Given the description of an element on the screen output the (x, y) to click on. 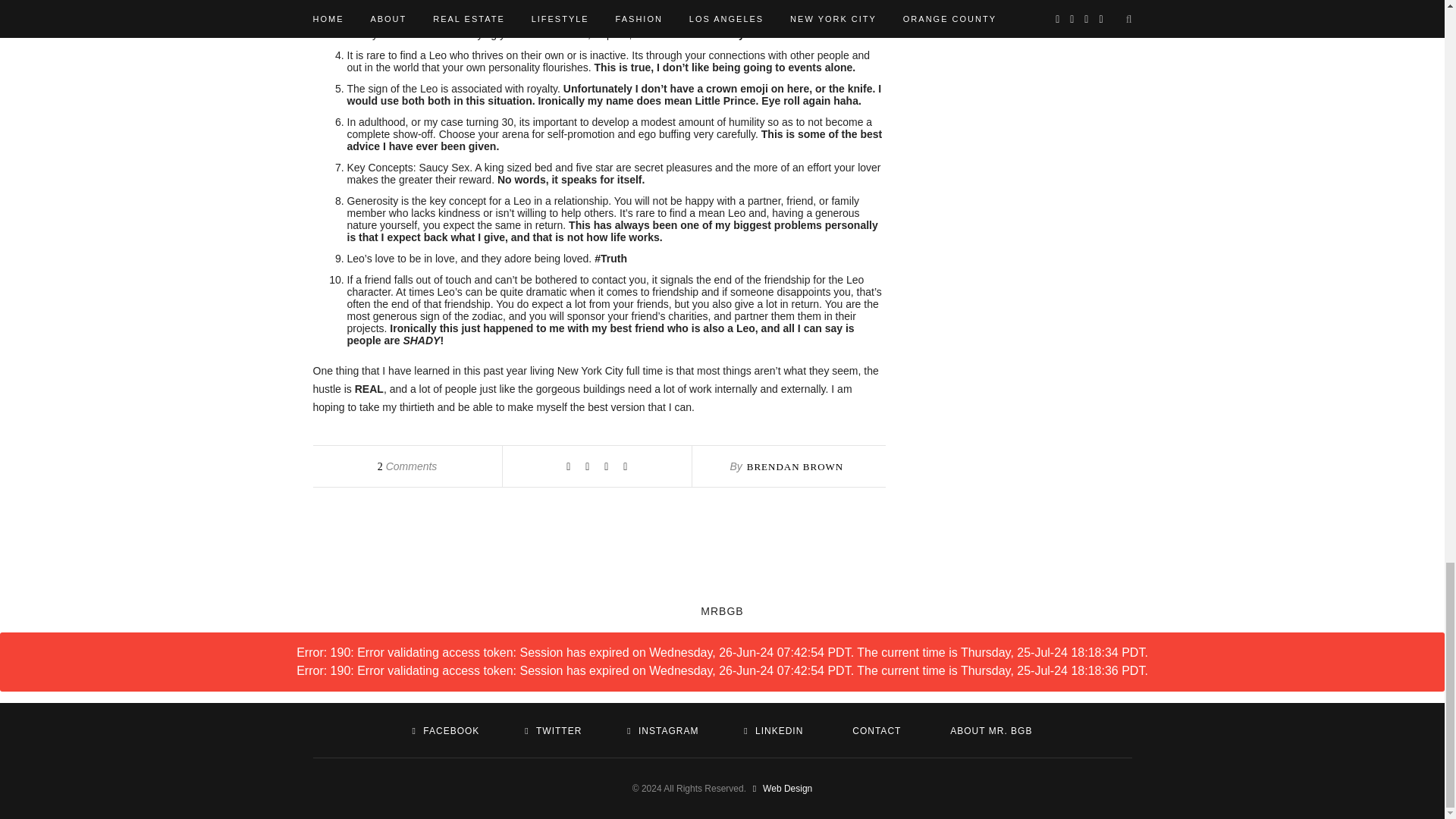
BRENDAN BROWN (794, 466)
2 Comments (407, 466)
Wordpress Web Design by Inspyre (780, 787)
Posts by Brendan Brown (794, 466)
